Given the description of an element on the screen output the (x, y) to click on. 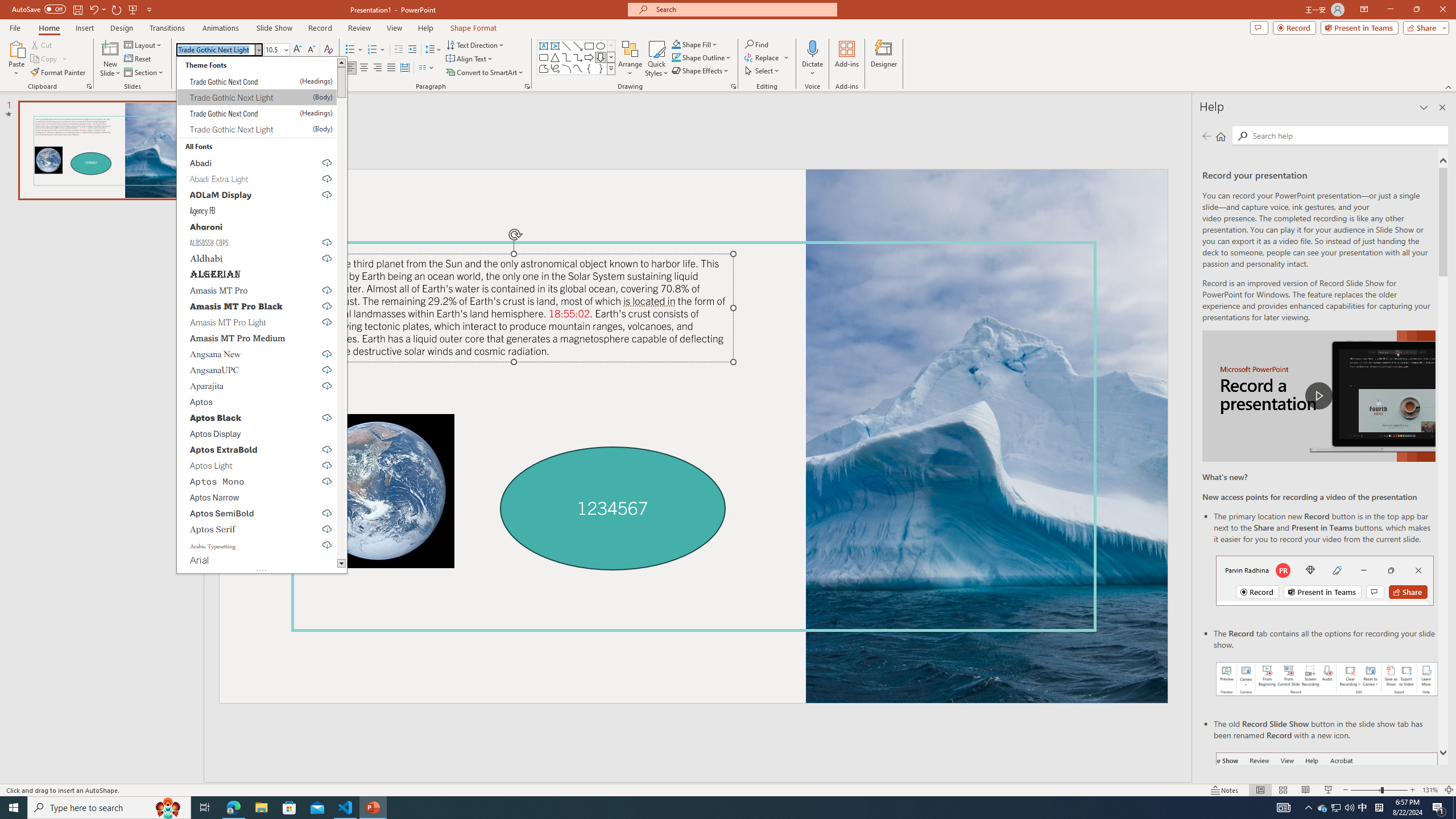
AutomationID: ShapesInsertGallery (576, 57)
Font... (334, 85)
Font Color (324, 67)
Design (122, 28)
Microsoft search (742, 9)
Copy (49, 58)
Bullets (354, 49)
Numbering (372, 49)
Connector: Elbow Arrow (577, 57)
Change Case (276, 67)
Zoom to Fit  (1449, 790)
